Given the description of an element on the screen output the (x, y) to click on. 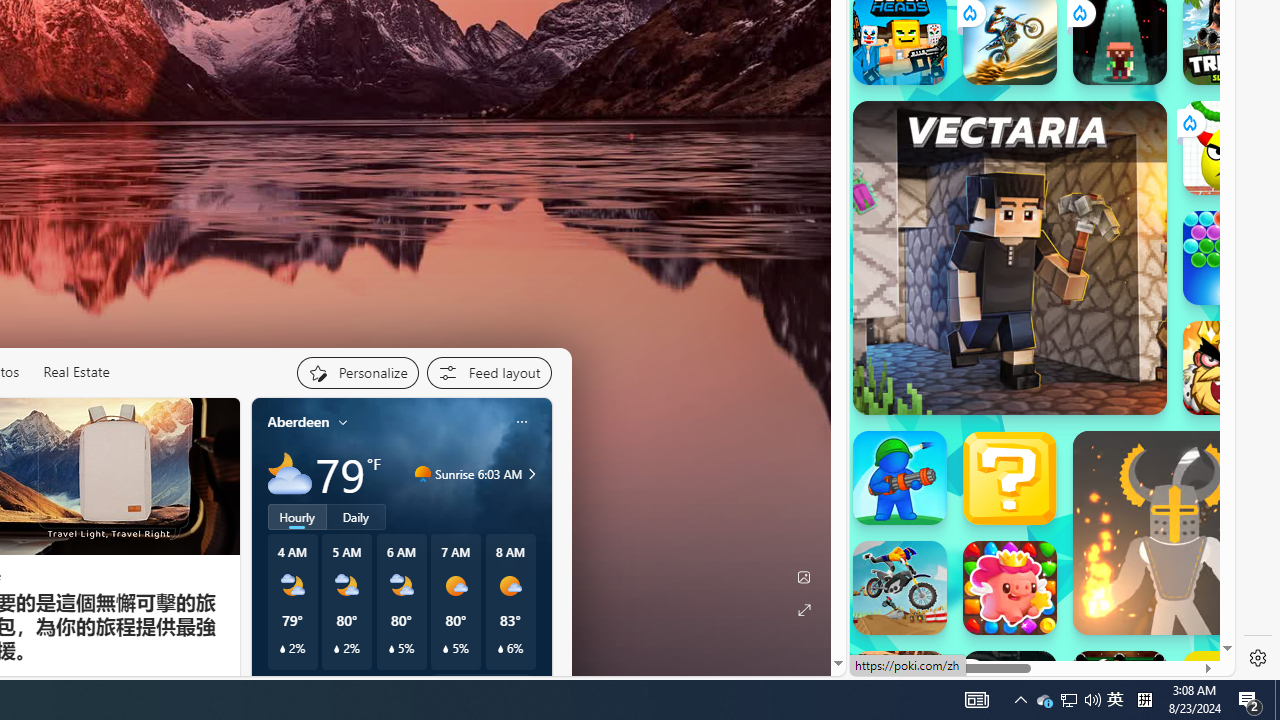
Like a King Like a King (1229, 367)
Hills of Steel Hills of Steel poki.com (943, 278)
Combat Reloaded (1090, 324)
Show More Games for Girls (1164, 30)
Draw To Smash: Logic Puzzle Draw To Smash: Logic Puzzle (1229, 147)
Hills of Steel (943, 233)
Vectaria.io (1009, 257)
War Master War Master (899, 477)
Vectaria.io Vectaria.io (1009, 257)
Aberdeen (298, 422)
